Given the description of an element on the screen output the (x, y) to click on. 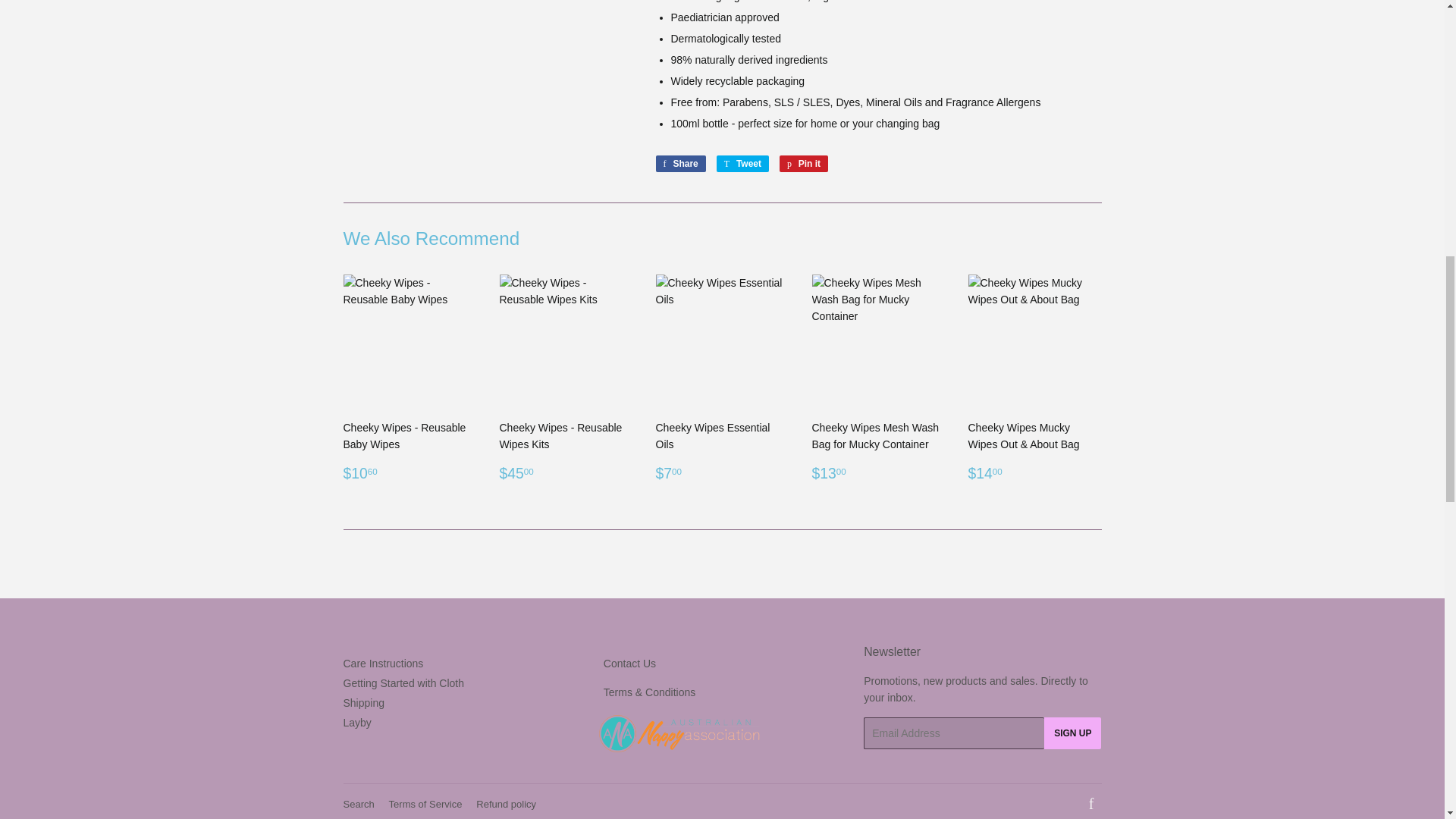
Pin on Pinterest (803, 163)
Contact Us (630, 663)
Share on Facebook (679, 163)
Tweet on Twitter (742, 163)
